Given the description of an element on the screen output the (x, y) to click on. 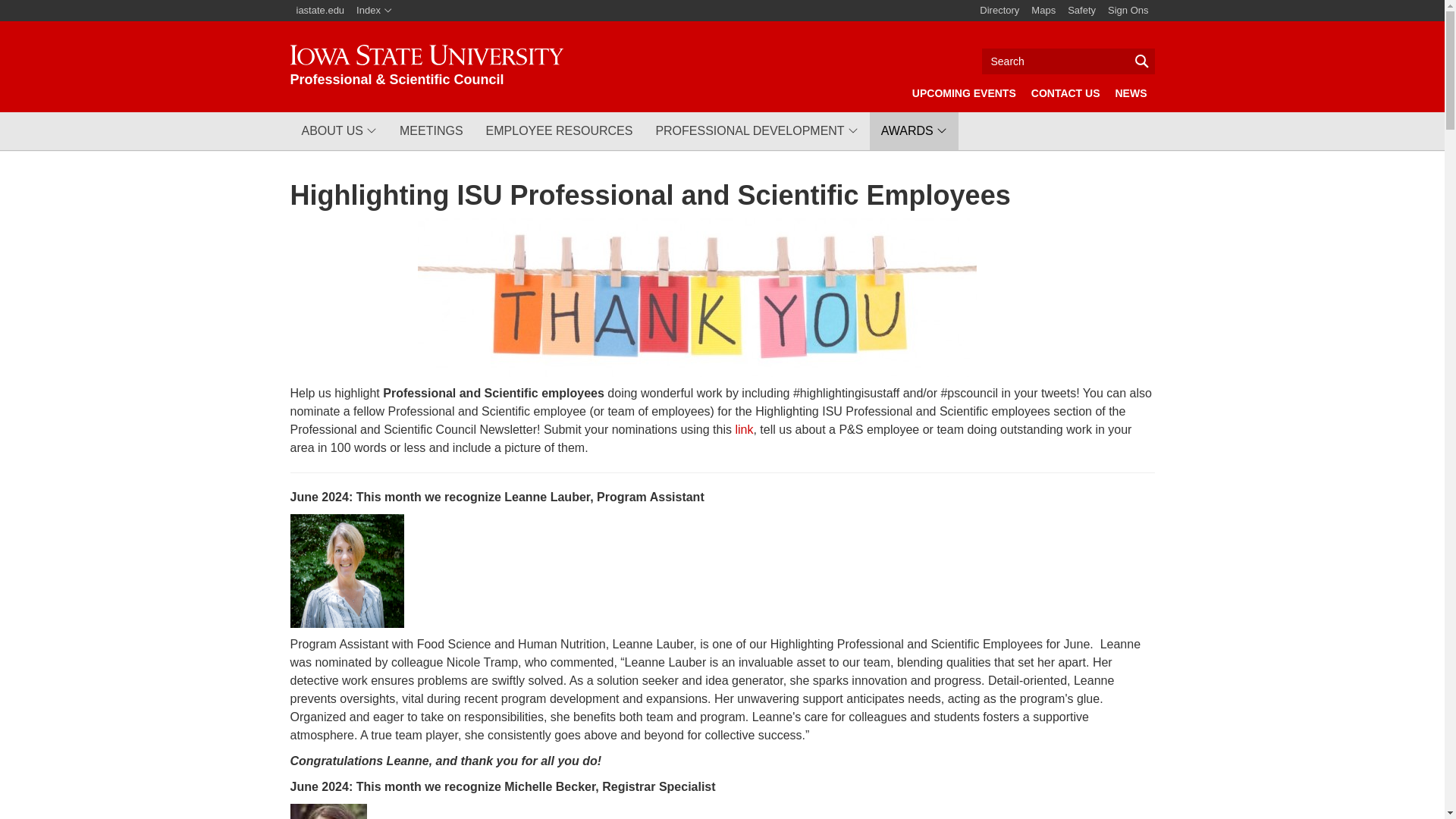
Safety (1081, 10)
Sign Ons (1128, 10)
NEWS (1130, 93)
CONTACT US (1065, 93)
UPCOMING EVENTS (963, 93)
Search (1067, 61)
iastate.edu (319, 10)
Home (425, 66)
Index (373, 10)
Directory (999, 10)
Maps (1043, 10)
